Given the description of an element on the screen output the (x, y) to click on. 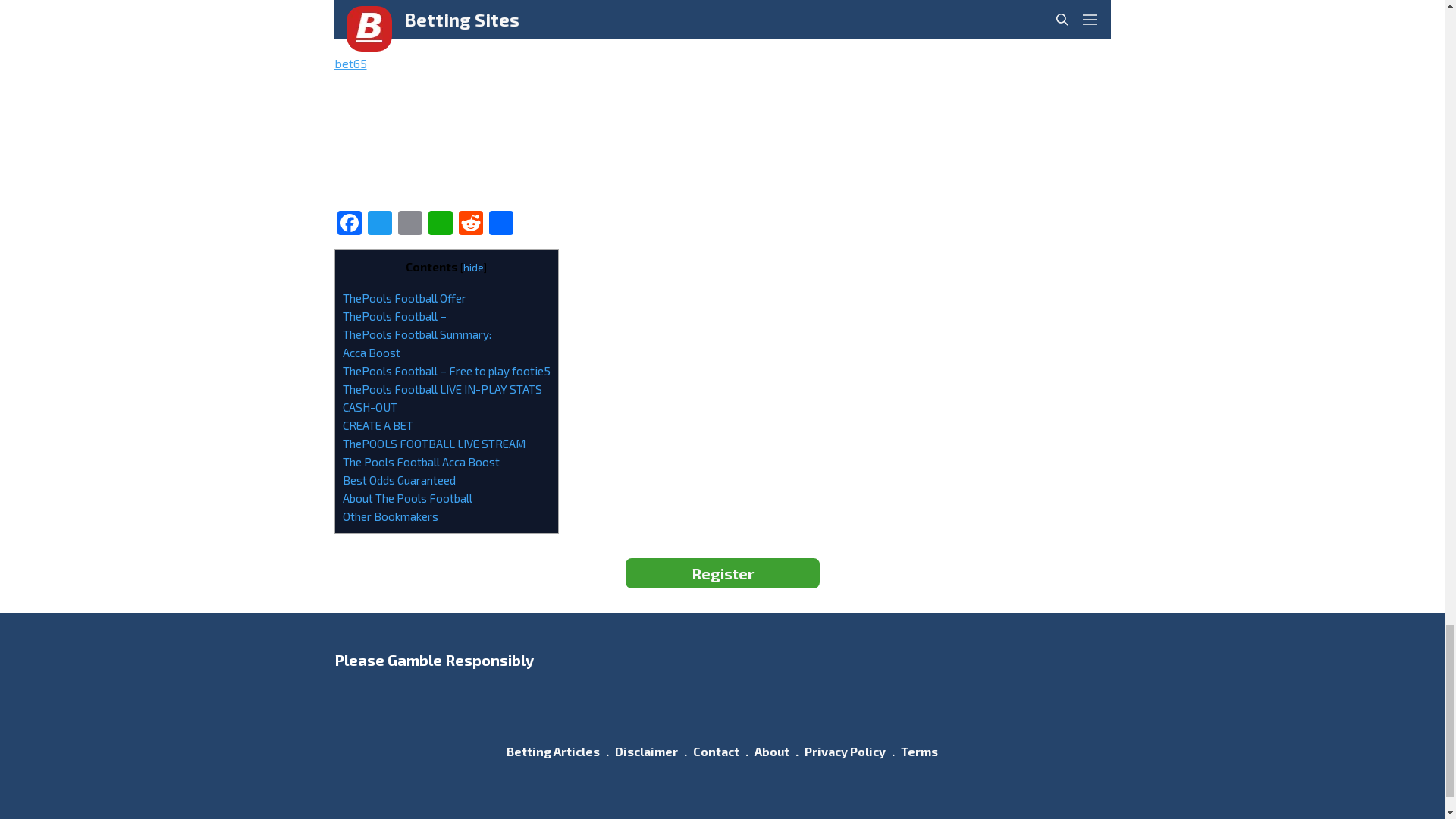
Reddit (469, 223)
Twitter (379, 223)
Facebook (348, 223)
ThePools Football Offer (403, 297)
Email (409, 223)
Acca Boost (371, 352)
bet65 (349, 63)
CASH-OUT (369, 407)
CREATE A BET (377, 425)
Facebook (348, 223)
